Given the description of an element on the screen output the (x, y) to click on. 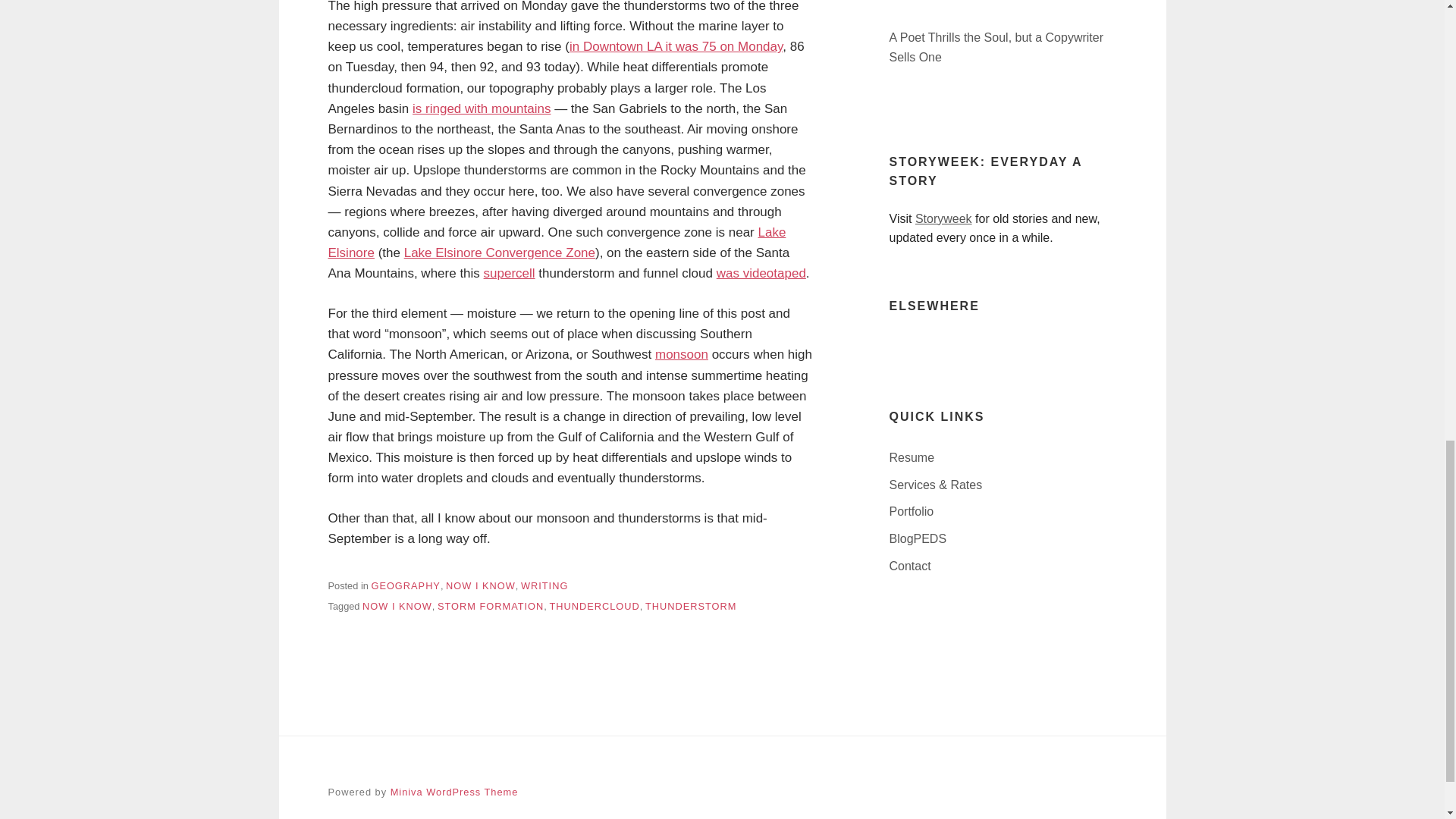
A Poet Thrills the Soul, but a Copywriter Sells One (1002, 46)
THUNDERCLOUD (593, 605)
THUNDERSTORM (690, 605)
NOW I KNOW (480, 585)
supercell (509, 273)
Lake Elsinore (556, 242)
WRITING (544, 585)
STORM FORMATION (490, 605)
is ringed with mountains (481, 108)
LinkedIn (900, 346)
